Given the description of an element on the screen output the (x, y) to click on. 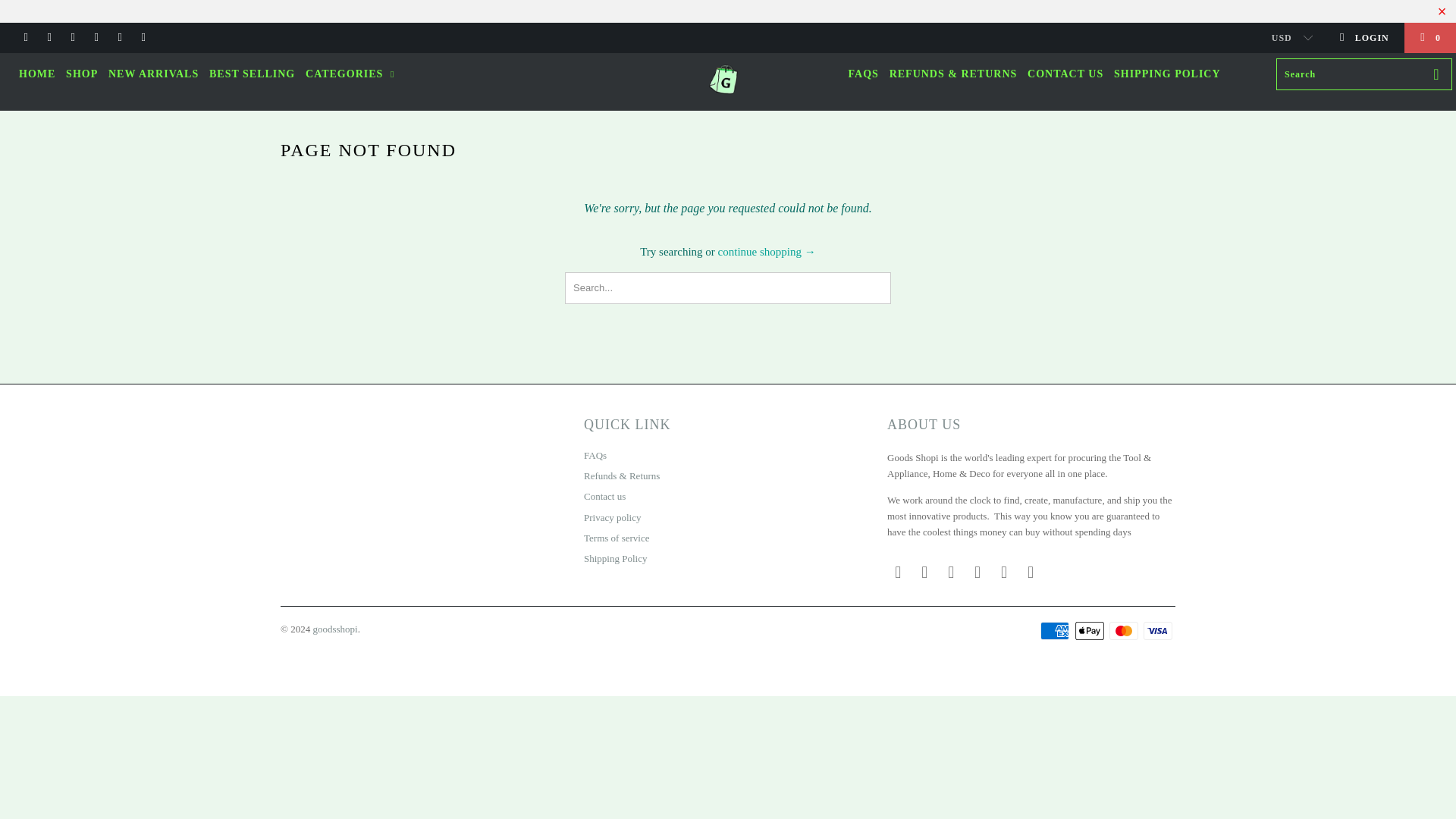
goodsshopi on Pinterest (978, 572)
goodsshopi on Twitter (898, 572)
goodsshopi on Facebook (48, 37)
goodsshopi (727, 81)
My Account  (1363, 37)
goodsshopi on LinkedIn (119, 37)
goodsshopi on YouTube (71, 37)
Email goodsshopi (1031, 572)
goodsshopi on Twitter (25, 37)
Email goodsshopi (142, 37)
